Given the description of an element on the screen output the (x, y) to click on. 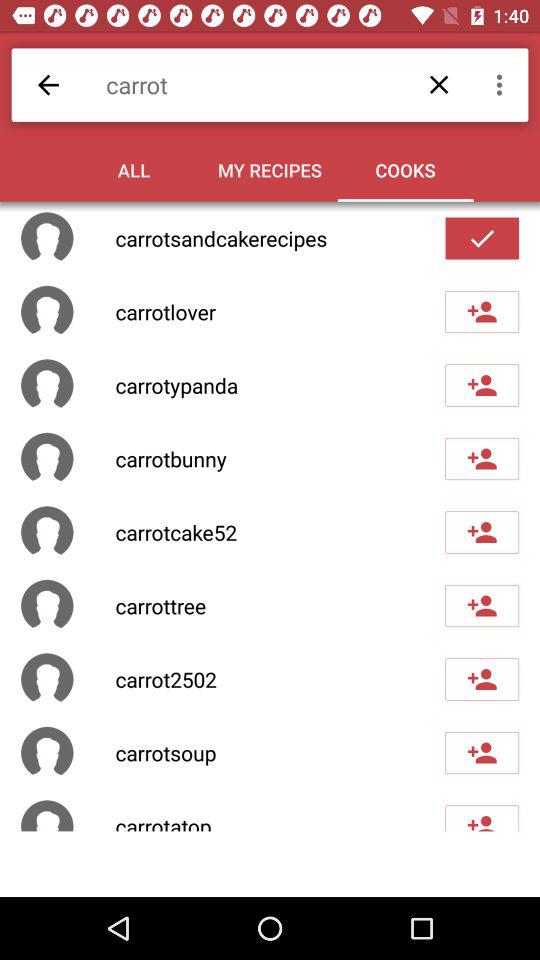
add user carrot2502 to cooks (482, 679)
